Given the description of an element on the screen output the (x, y) to click on. 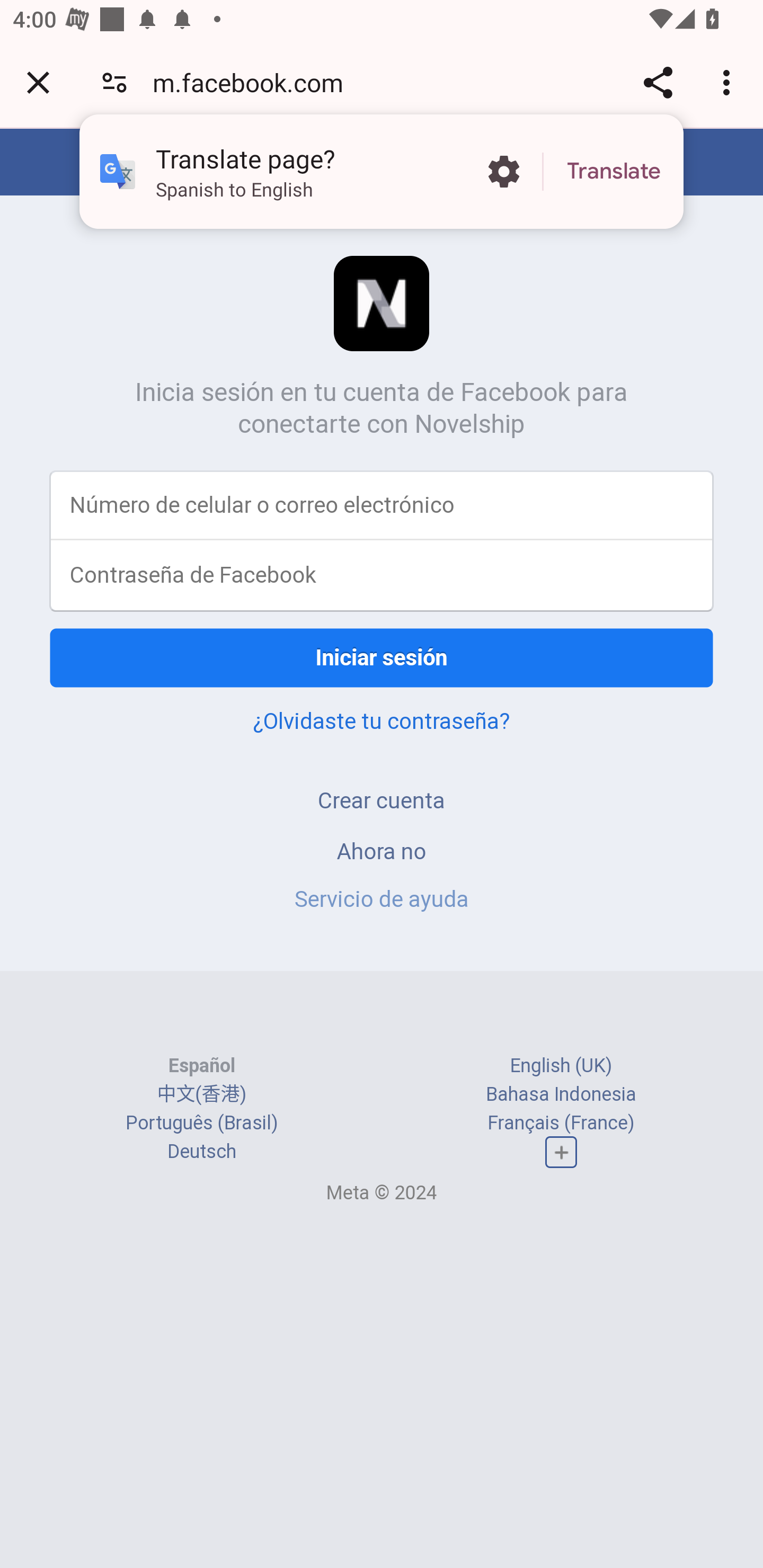
Close tab (38, 82)
Share (657, 82)
Customize and control Google Chrome (729, 82)
Connection is secure (114, 81)
m.facebook.com (254, 81)
Translate (613, 171)
More options in the Translate page? (503, 171)
Iniciar sesión (381, 657)
¿Olvidaste tu contraseña? (381, 720)
Crear cuenta (381, 800)
Ahora no (381, 850)
Servicio de ayuda (381, 898)
English (UK) (560, 1065)
中文(香港) (201, 1093)
Bahasa Indonesia (560, 1093)
Português (Brasil) (201, 1122)
Français (France) (560, 1122)
Lista completa de idiomas (560, 1152)
Deutsch (201, 1151)
